Given the description of an element on the screen output the (x, y) to click on. 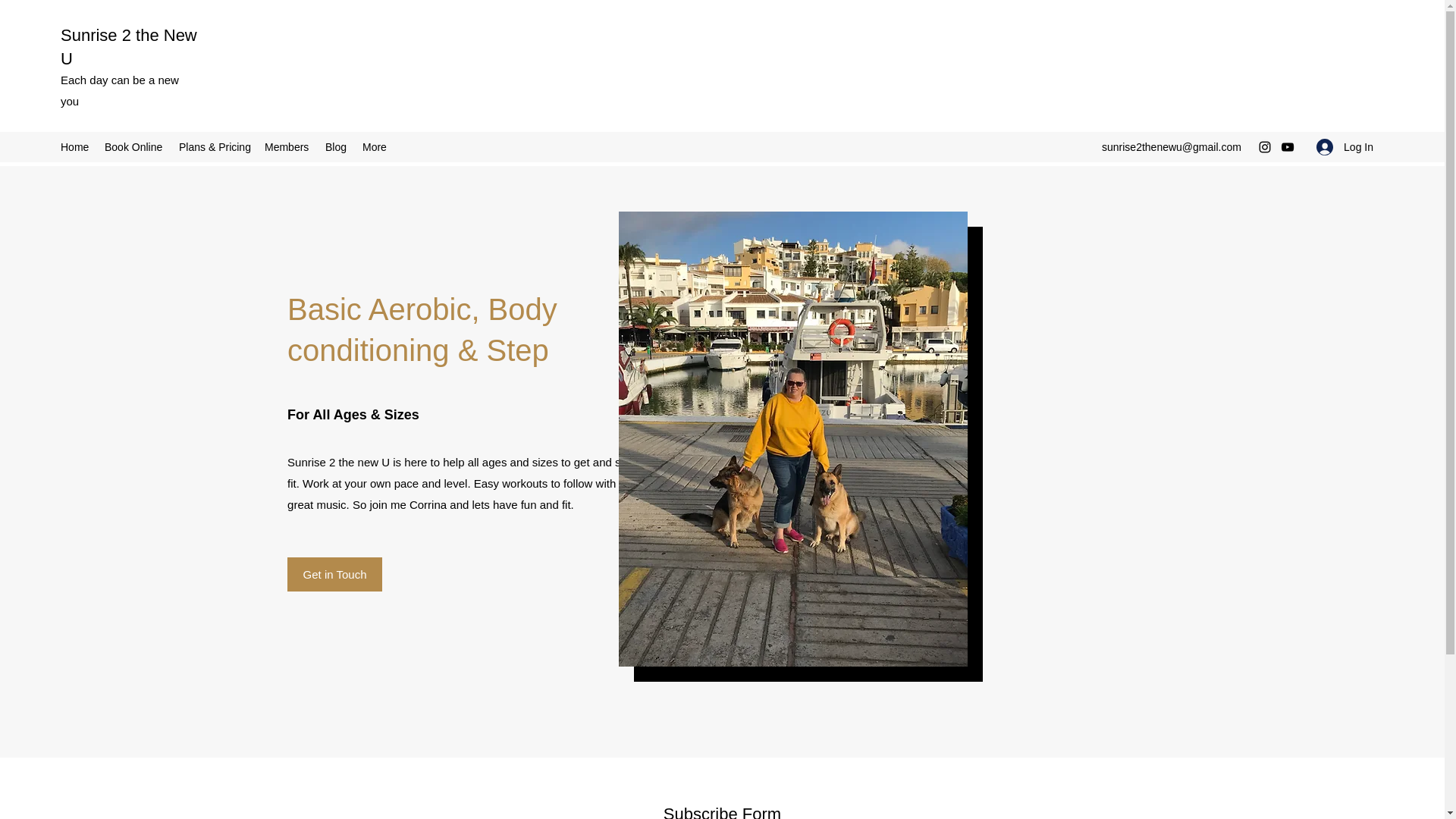
Book Online (134, 146)
Home (74, 146)
Members (287, 146)
Get in Touch (333, 574)
Log In (1345, 147)
Sunrise 2 the New U (128, 46)
Blog (336, 146)
